Given the description of an element on the screen output the (x, y) to click on. 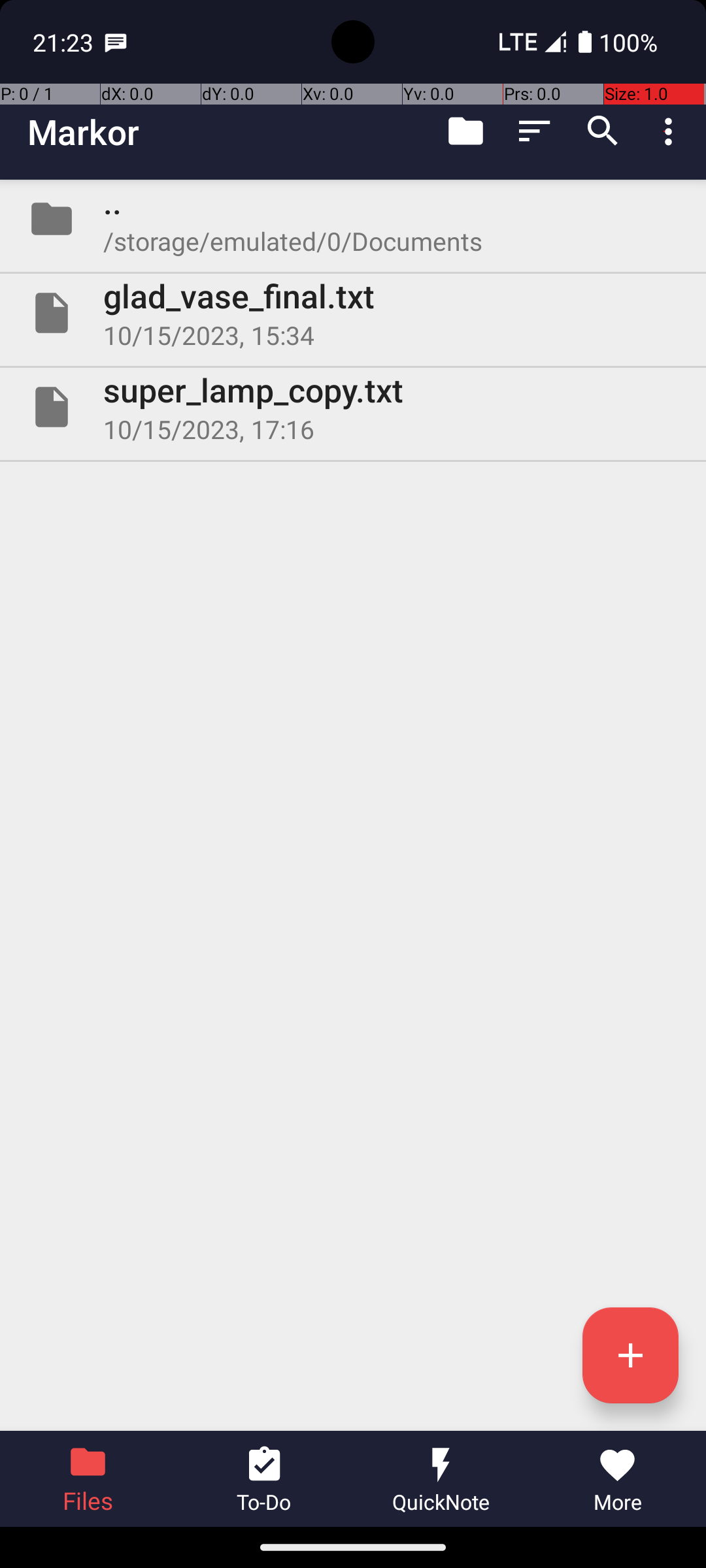
File glad_vase_final.txt  Element type: android.widget.LinearLayout (353, 312)
File super_lamp_copy.txt  Element type: android.widget.LinearLayout (353, 406)
21:23 Element type: android.widget.TextView (64, 41)
